Given the description of an element on the screen output the (x, y) to click on. 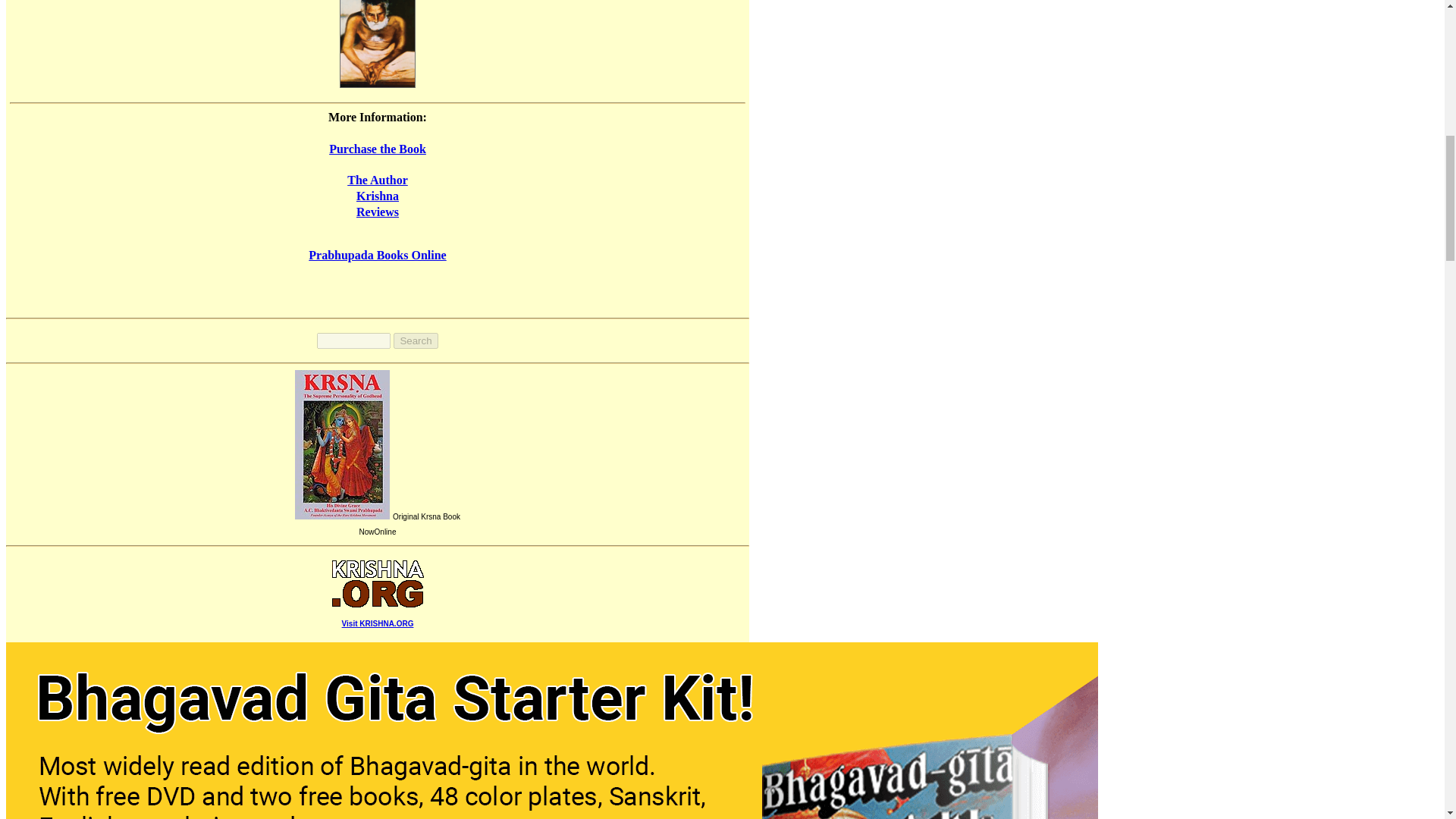
Search (415, 340)
Visit KRISHNA.ORG (377, 613)
Reviews (377, 211)
Purchase the Book (377, 148)
The Author (377, 179)
Prabhupada Books Online (376, 254)
Krishna (377, 195)
